Given the description of an element on the screen output the (x, y) to click on. 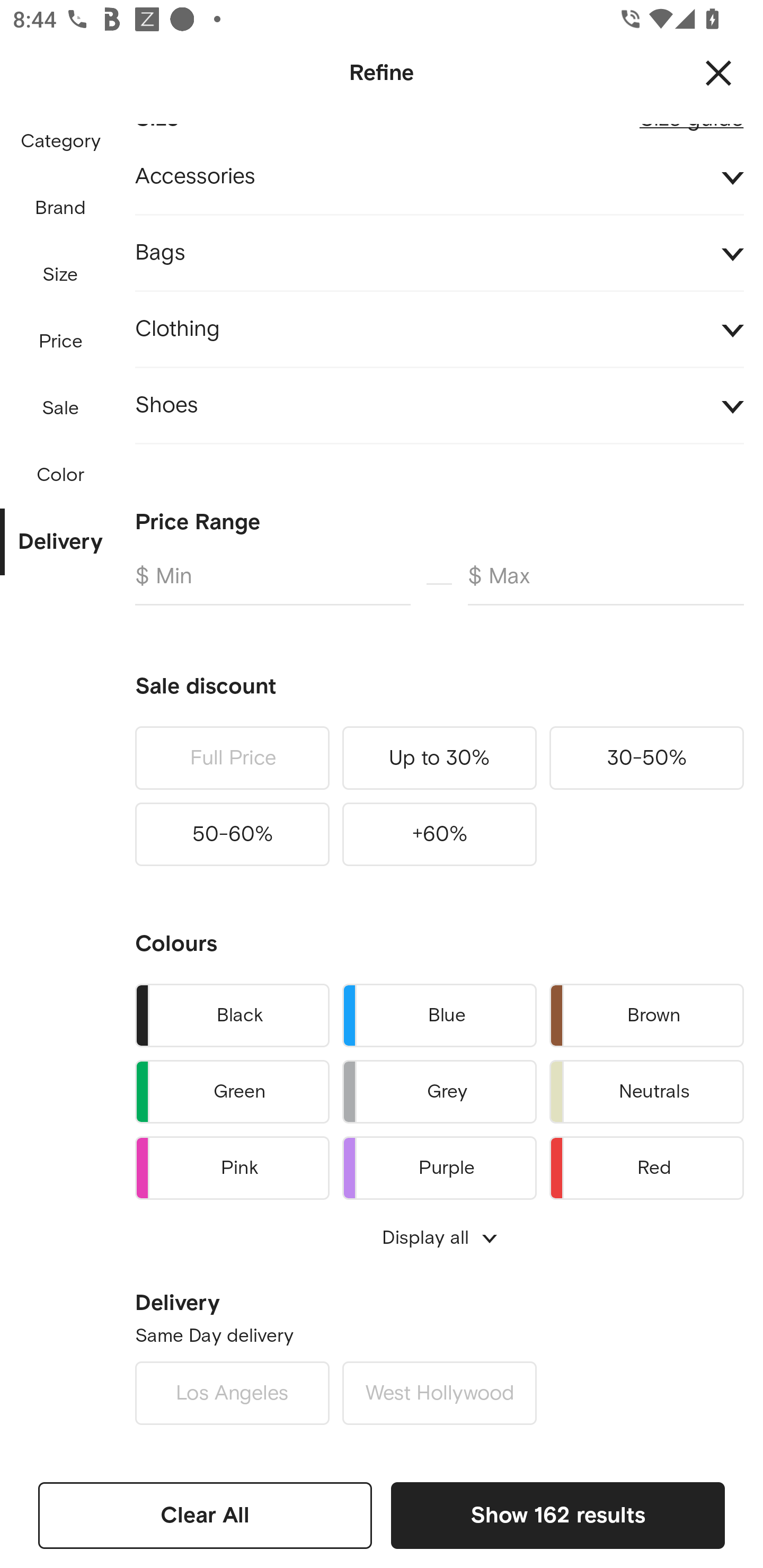
Category (60, 141)
Accessories (439, 176)
Brand (60, 208)
Bags (439, 252)
Size (60, 274)
Clothing (439, 328)
Price (60, 342)
Shoes (439, 404)
Sale (60, 408)
Color (60, 470)
Delivery (60, 542)
$ Min (272, 583)
$ Max (605, 583)
Full Price (232, 757)
Up to 30% (439, 757)
30-50% (646, 757)
50-60% (232, 833)
+60% (439, 833)
Black (232, 1014)
Blue (439, 1014)
Brown (646, 1014)
Green (232, 1091)
Grey (439, 1091)
Neutrals (646, 1091)
Pink (232, 1164)
Purple (439, 1164)
Red (646, 1164)
Display all (439, 1237)
Los Angeles (232, 1392)
West Hollywood (439, 1392)
Clear All (205, 1515)
Show 162 results (557, 1515)
